Given the description of an element on the screen output the (x, y) to click on. 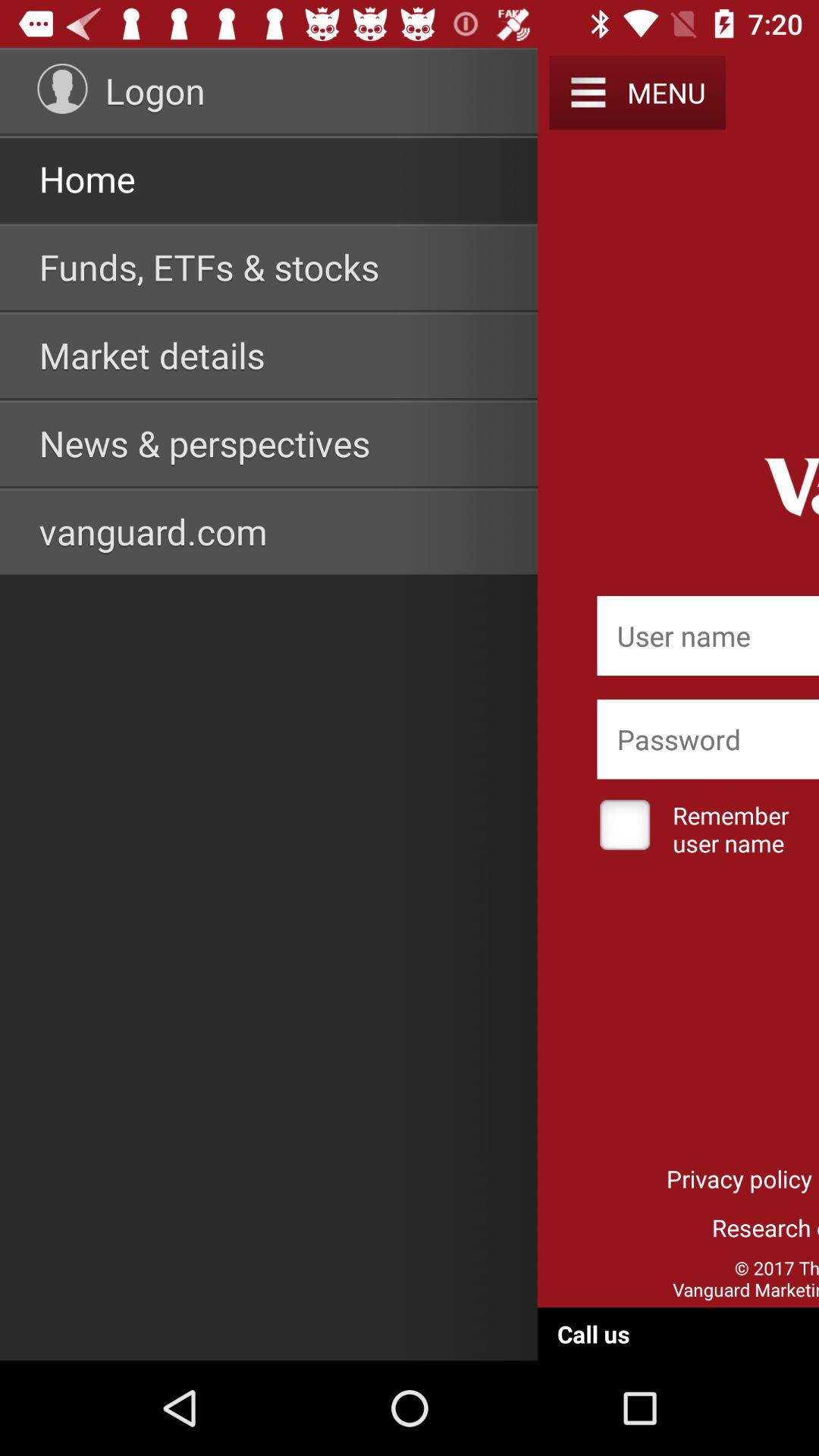
turn on item next to the menu app (588, 92)
